Given the description of an element on the screen output the (x, y) to click on. 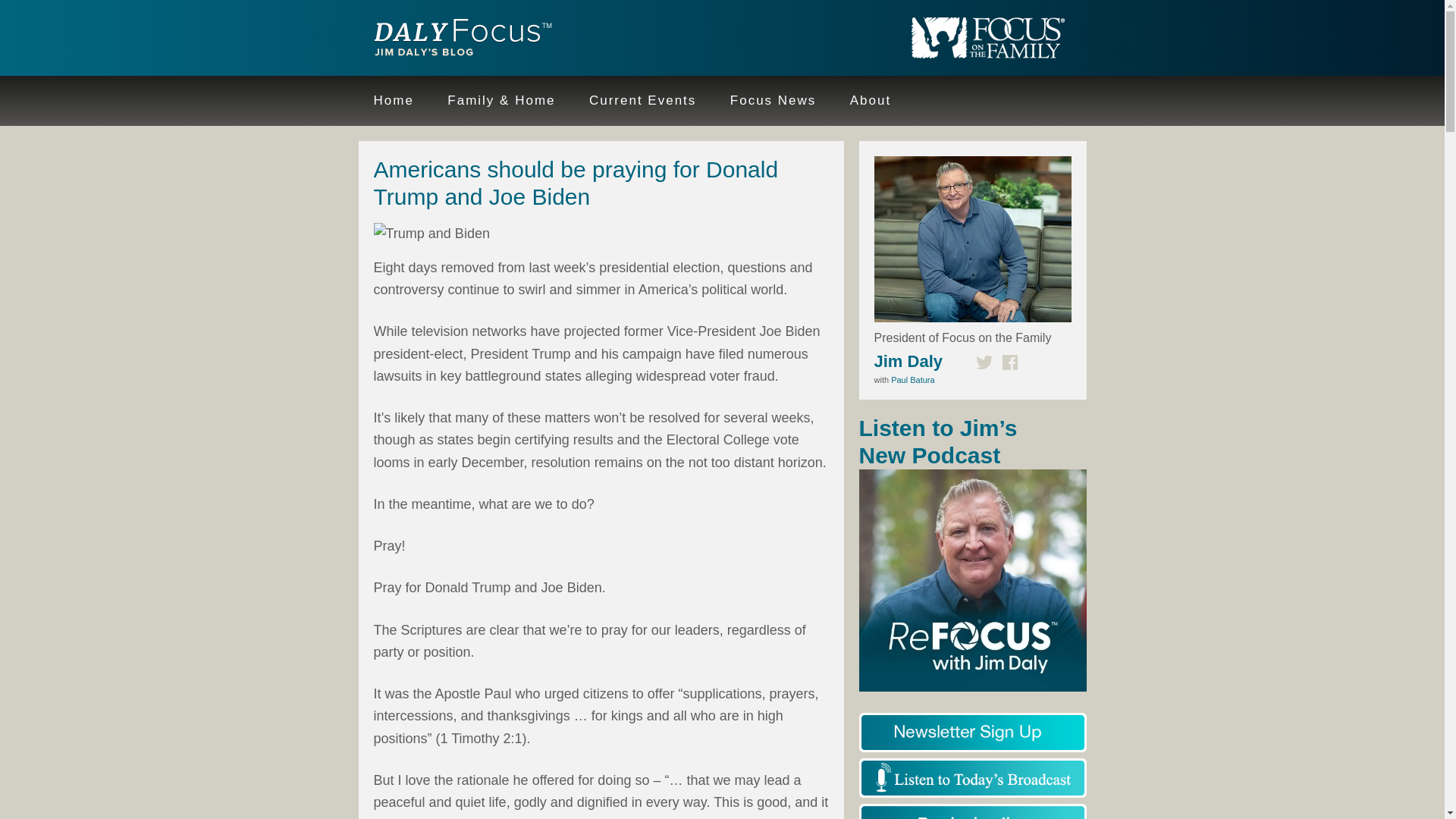
Current Events (642, 101)
Jim Daly (456, 39)
Home (393, 101)
Focus News (772, 101)
Paul Batura (912, 379)
About (869, 101)
Jim Daly (907, 361)
